Given the description of an element on the screen output the (x, y) to click on. 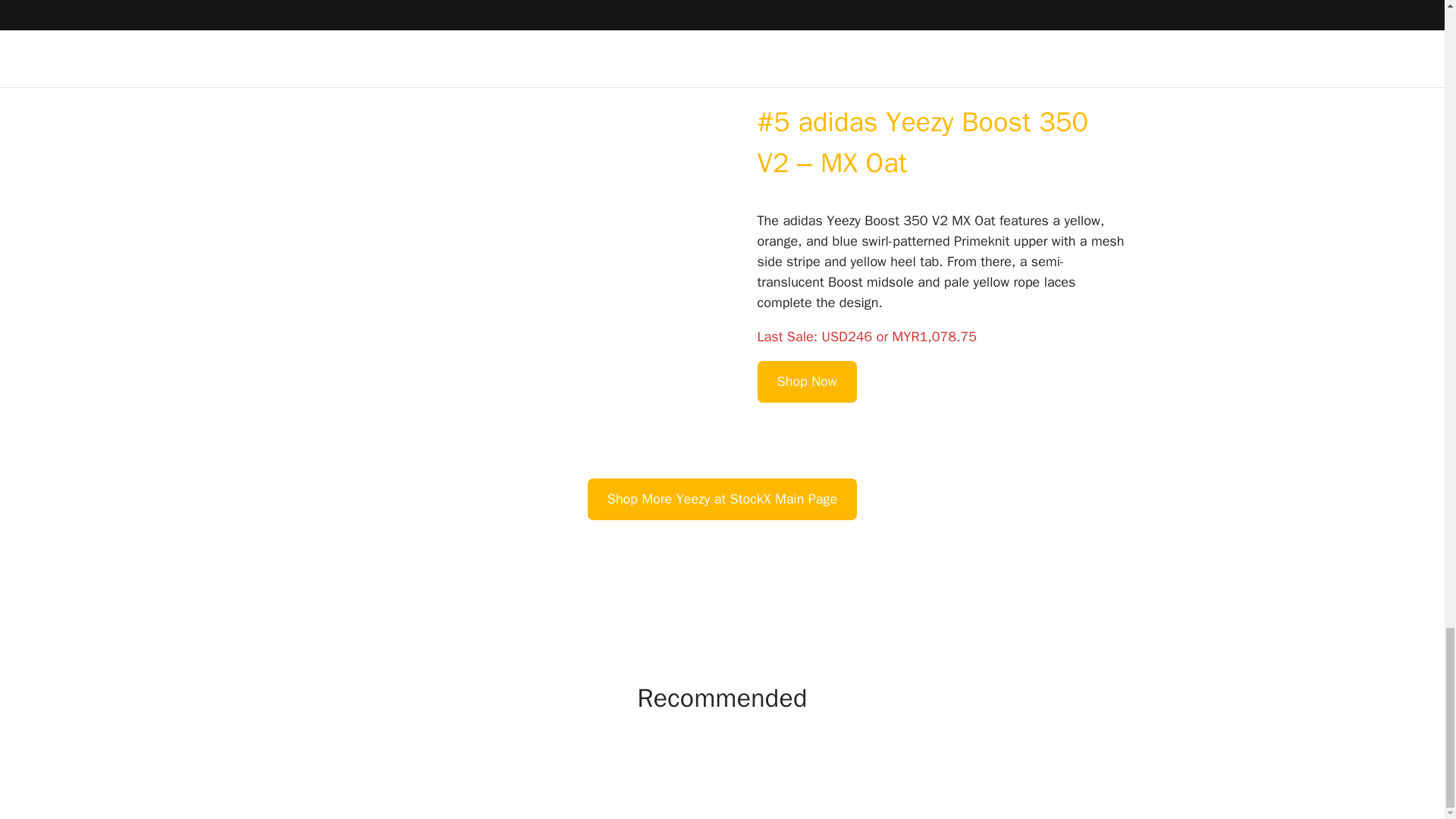
Shop More Yeezy at StockX Main Page (722, 499)
Shop Now (807, 381)
